Given the description of an element on the screen output the (x, y) to click on. 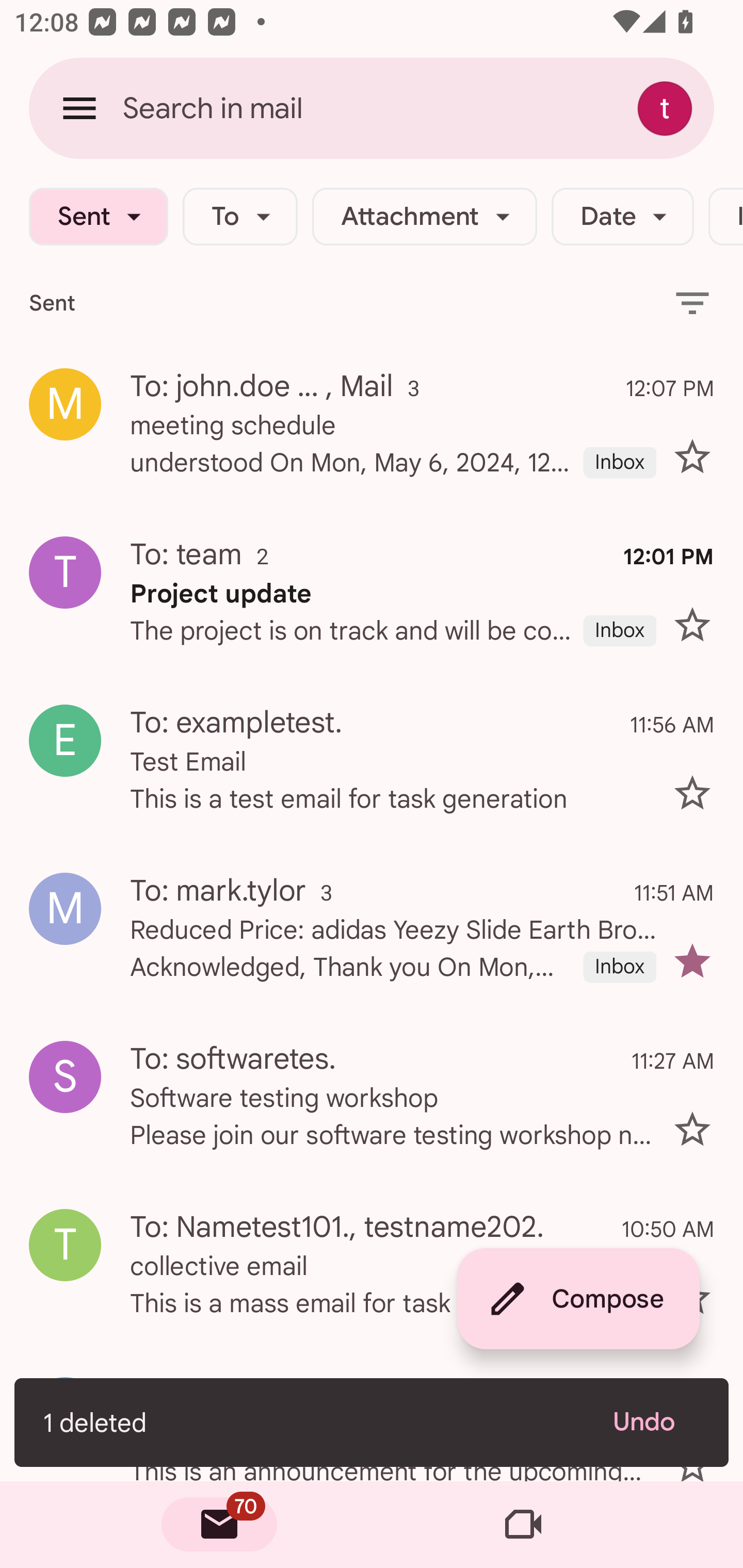
Open navigation drawer (79, 108)
Sent (97, 217)
To (239, 217)
Attachment (424, 217)
Date (622, 217)
Filter icon (692, 302)
Compose (577, 1299)
Undo (655, 1422)
Meet (523, 1524)
